Given the description of an element on the screen output the (x, y) to click on. 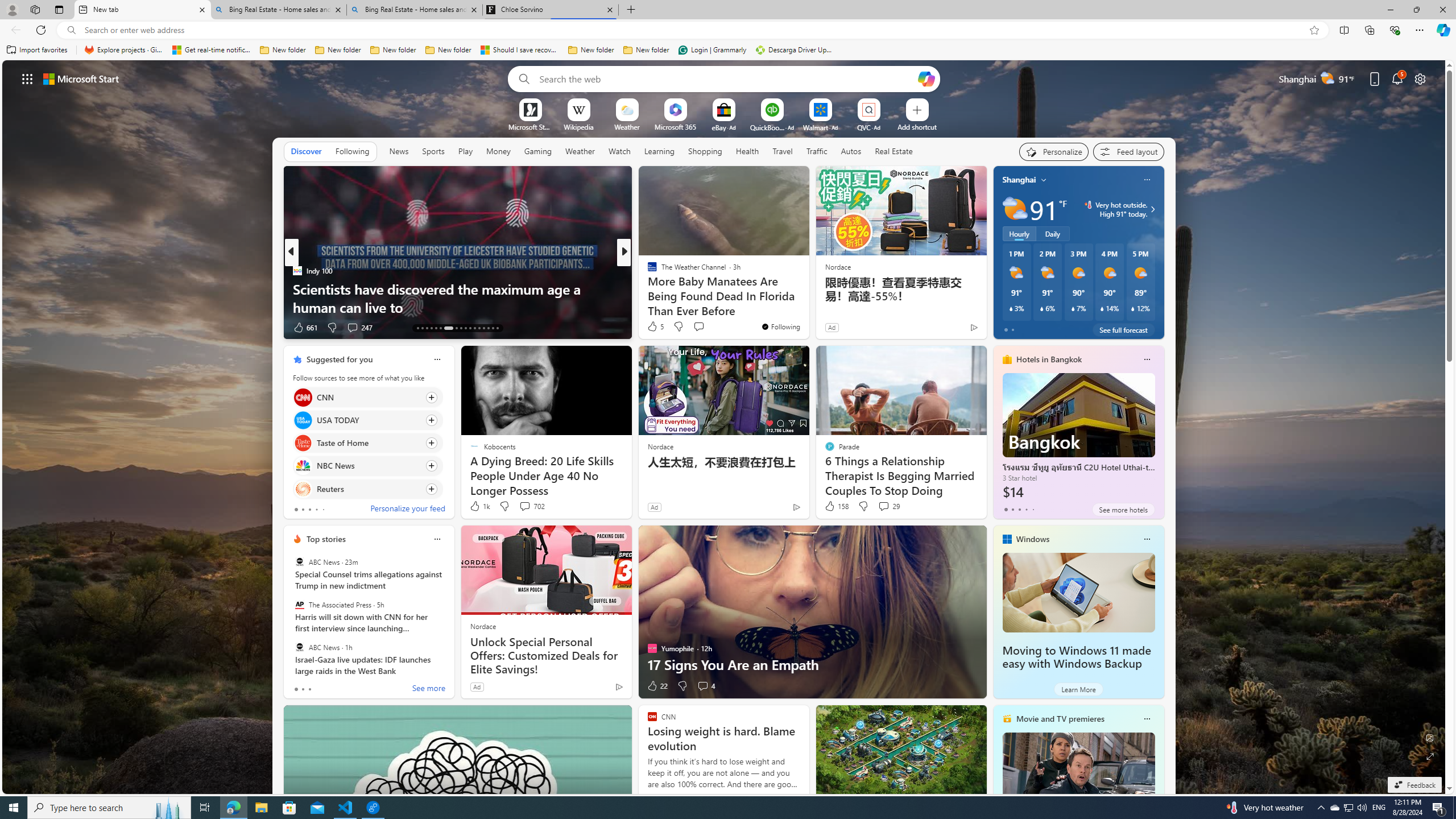
Should I save recovered Word documents? - Microsoft Support (519, 49)
Search icon (70, 29)
Health (746, 151)
Yumophile (647, 288)
